Given the description of an element on the screen output the (x, y) to click on. 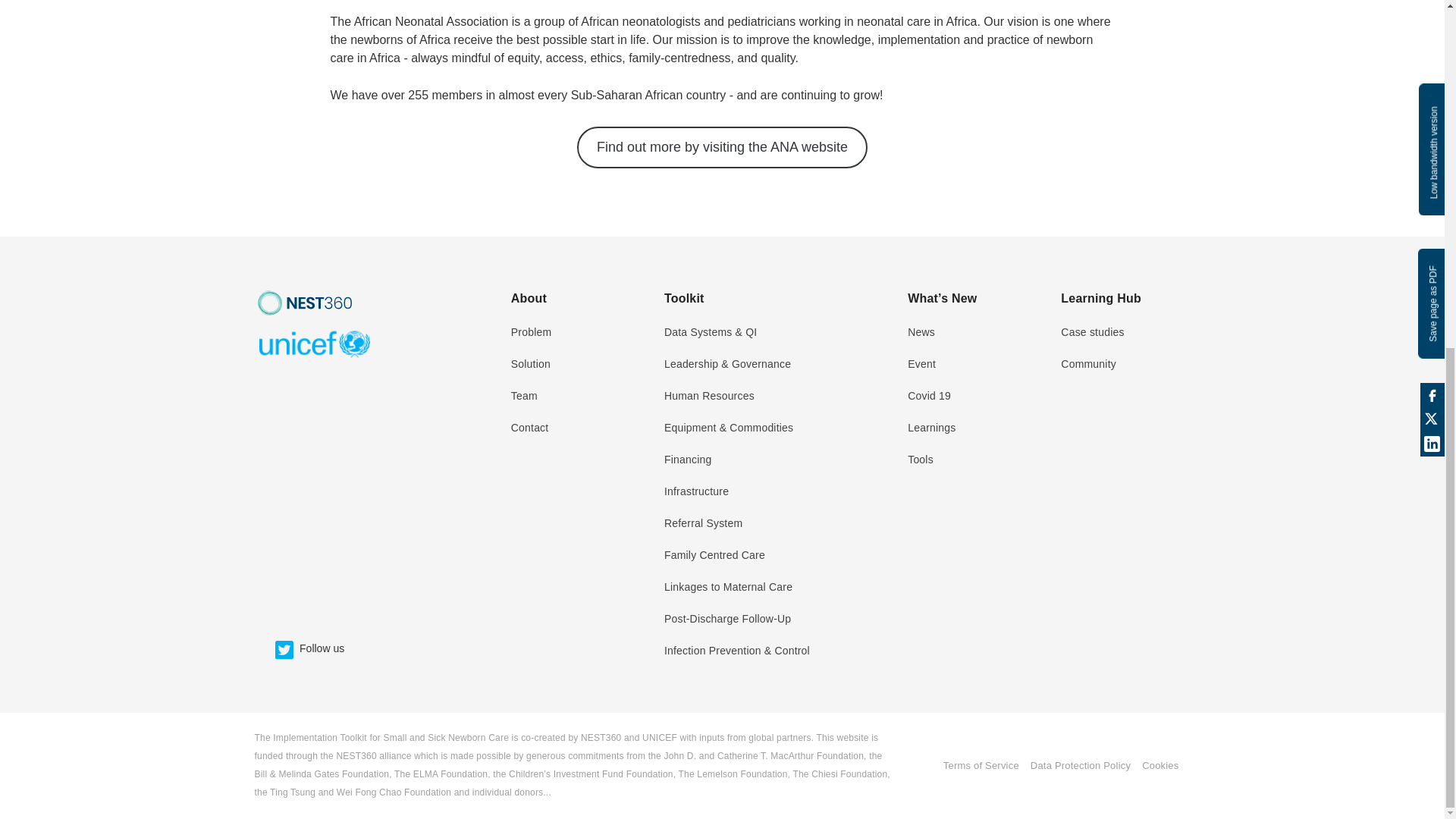
Find out more by visiting the ANA website (721, 147)
